Given the description of an element on the screen output the (x, y) to click on. 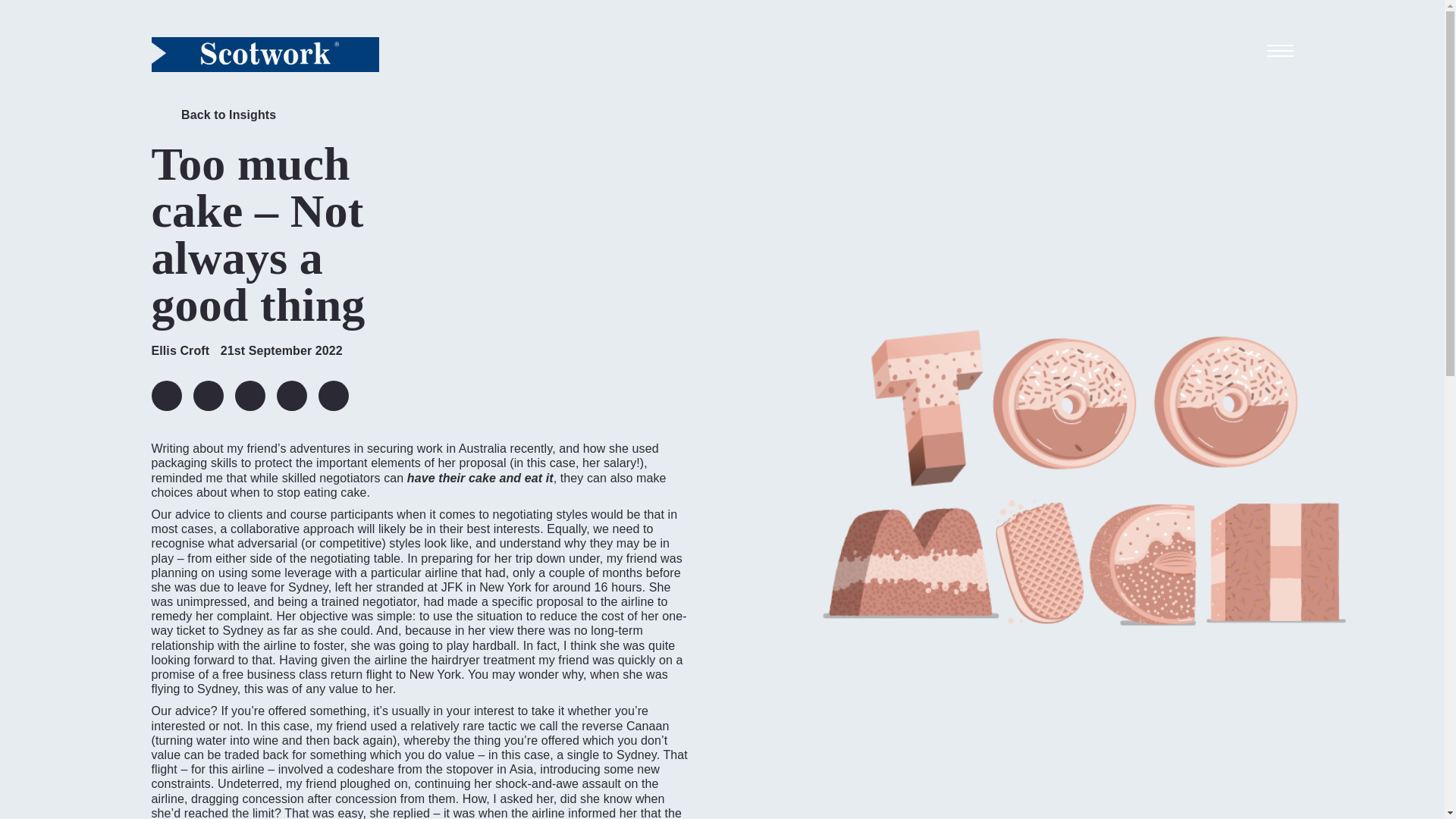
rss (333, 395)
Back to Insights (213, 117)
home (264, 54)
facebook (249, 395)
twitter (207, 395)
Back to Insights (213, 117)
googleplus (290, 395)
linkedin (166, 395)
